Given the description of an element on the screen output the (x, y) to click on. 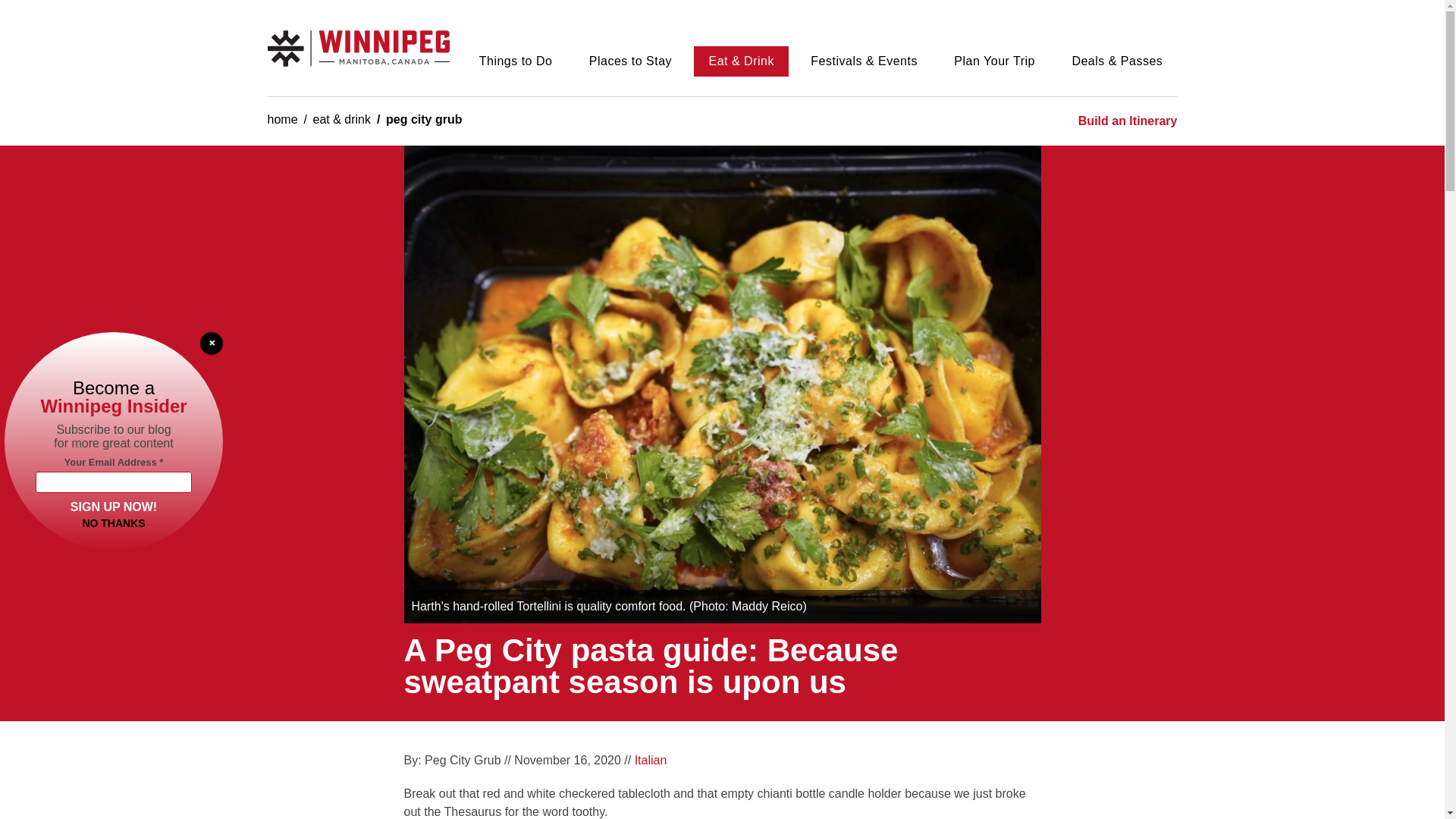
Places to Stay (631, 60)
Plan Your Trip (994, 60)
Email to a Friend (1017, 765)
Share on Twitter (953, 765)
Share on Facebook (921, 765)
Sign Up Now! (114, 505)
Things to Do (515, 60)
Share on LinkedIn (985, 765)
